Given the description of an element on the screen output the (x, y) to click on. 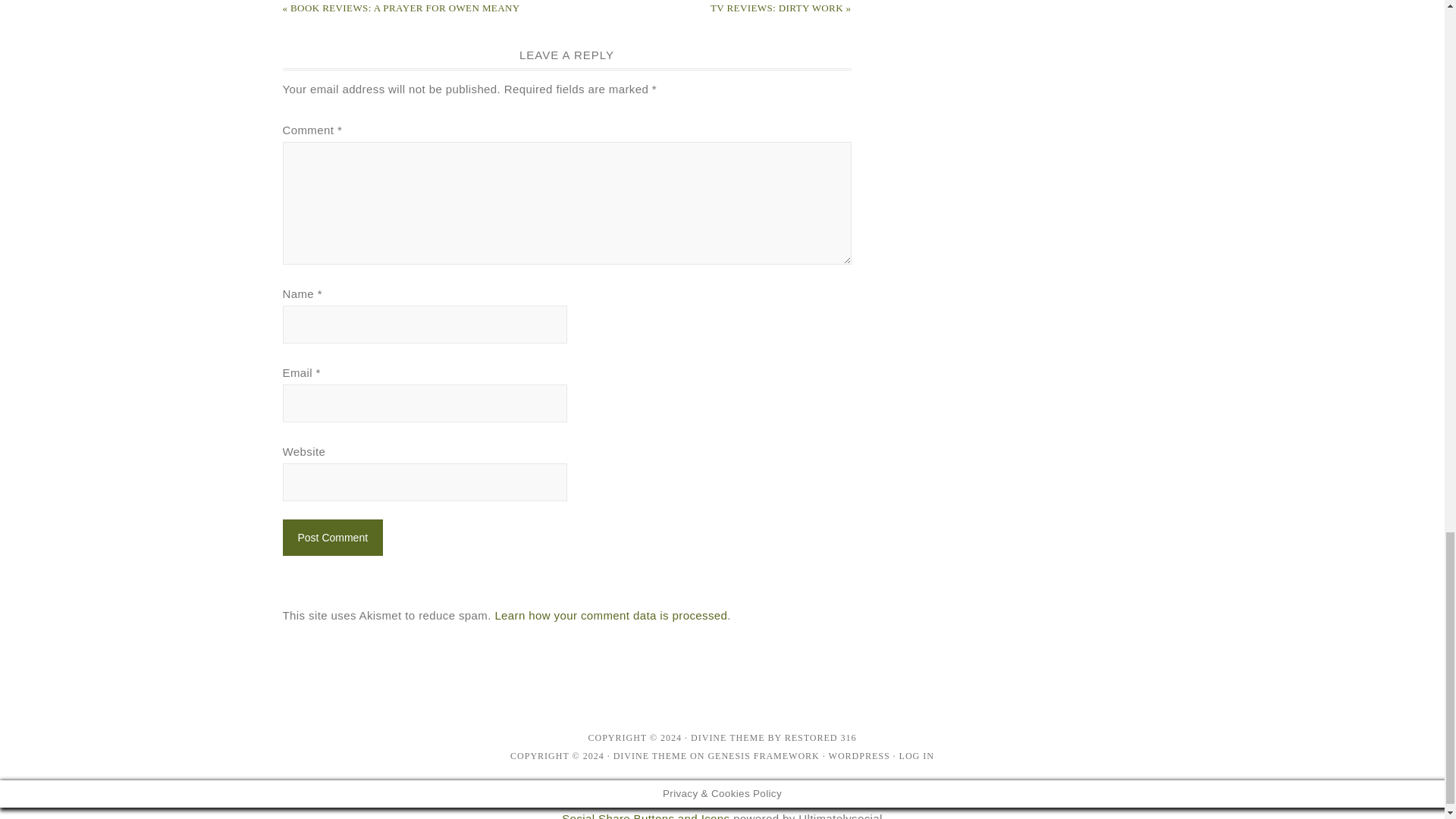
Post Comment (332, 537)
WORDPRESS (858, 756)
Post Comment (332, 537)
DIVINE THEME (727, 737)
DIVINE THEME (649, 756)
RESTORED 316 (820, 737)
GENESIS FRAMEWORK (762, 756)
Learn how your comment data is processed (610, 615)
LOG IN (916, 756)
